Given the description of an element on the screen output the (x, y) to click on. 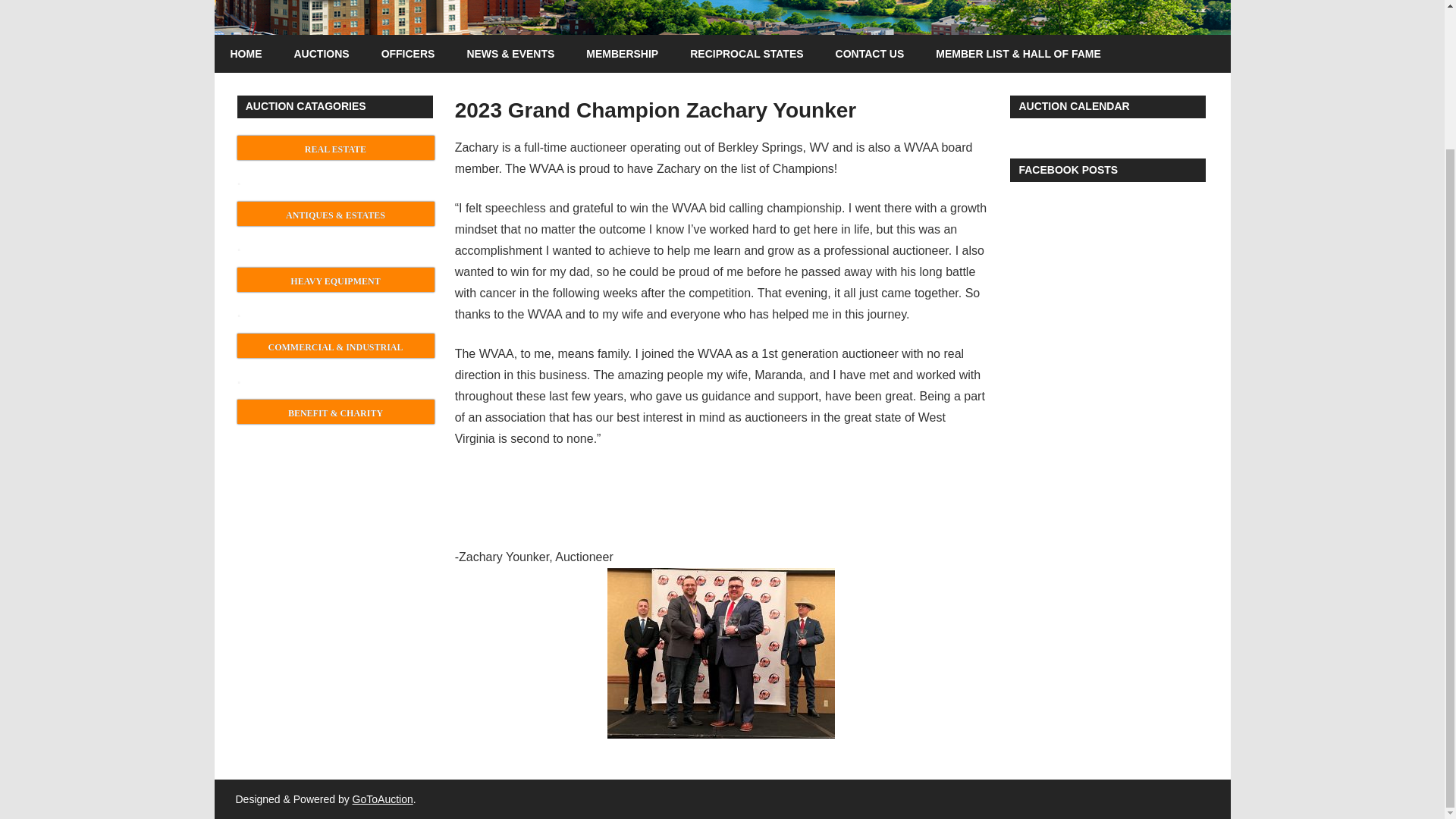
HEAVY EQUIPMENT (334, 279)
GoToAuction (382, 799)
HOME (246, 53)
RECIPROCAL STATES (746, 53)
MEMBERSHIP (622, 53)
CONTACT US (869, 53)
OFFICERS (408, 53)
REAL ESTATE (334, 147)
AUCTIONS (321, 53)
